Given the description of an element on the screen output the (x, y) to click on. 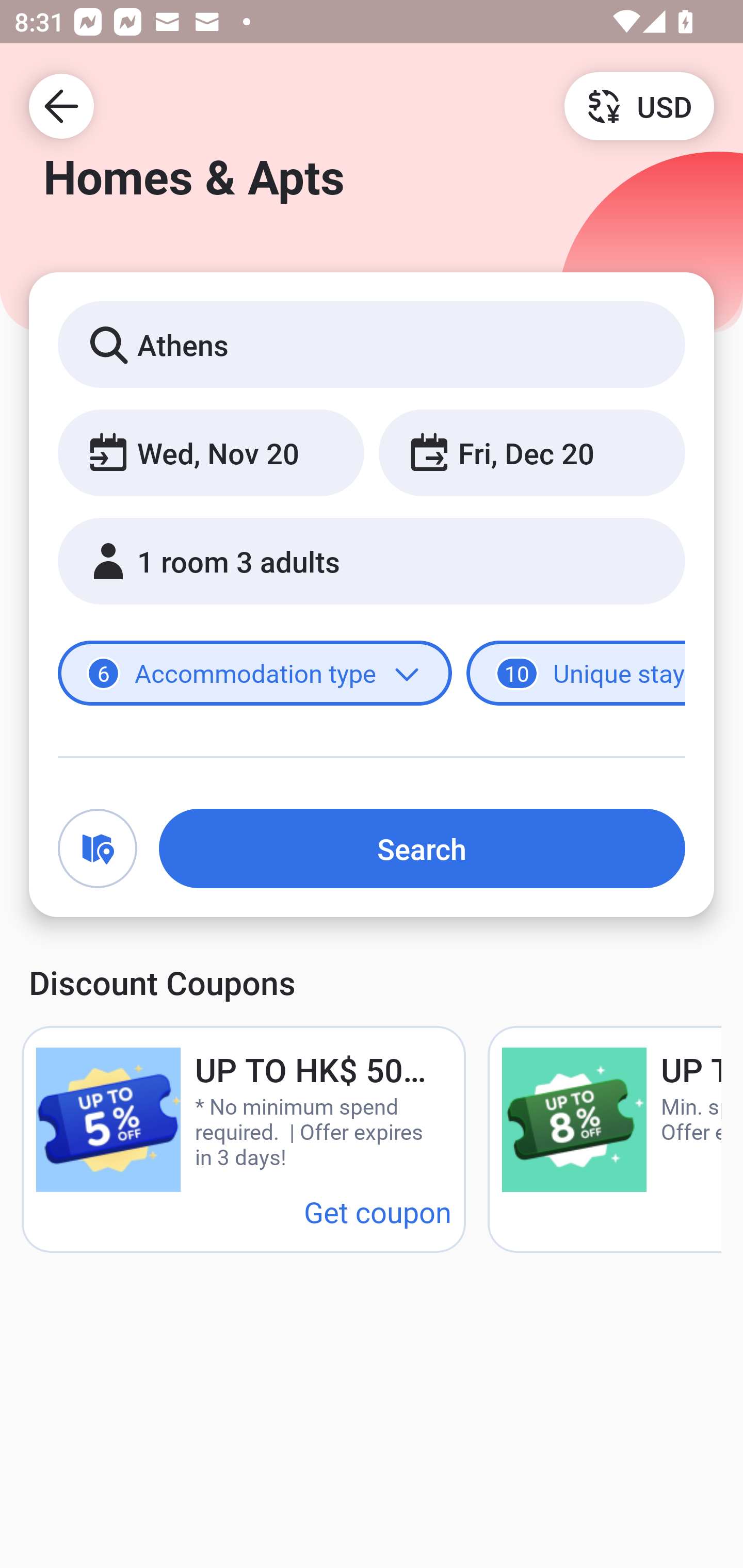
USD (639, 105)
Athens (371, 344)
Wed, Nov 20 (210, 452)
Fri, Dec 20 (531, 452)
1 room 3 adults (371, 561)
6 Accommodation type (254, 673)
10 Unique stays (575, 673)
Search (422, 848)
Get coupon (377, 1211)
